Given the description of an element on the screen output the (x, y) to click on. 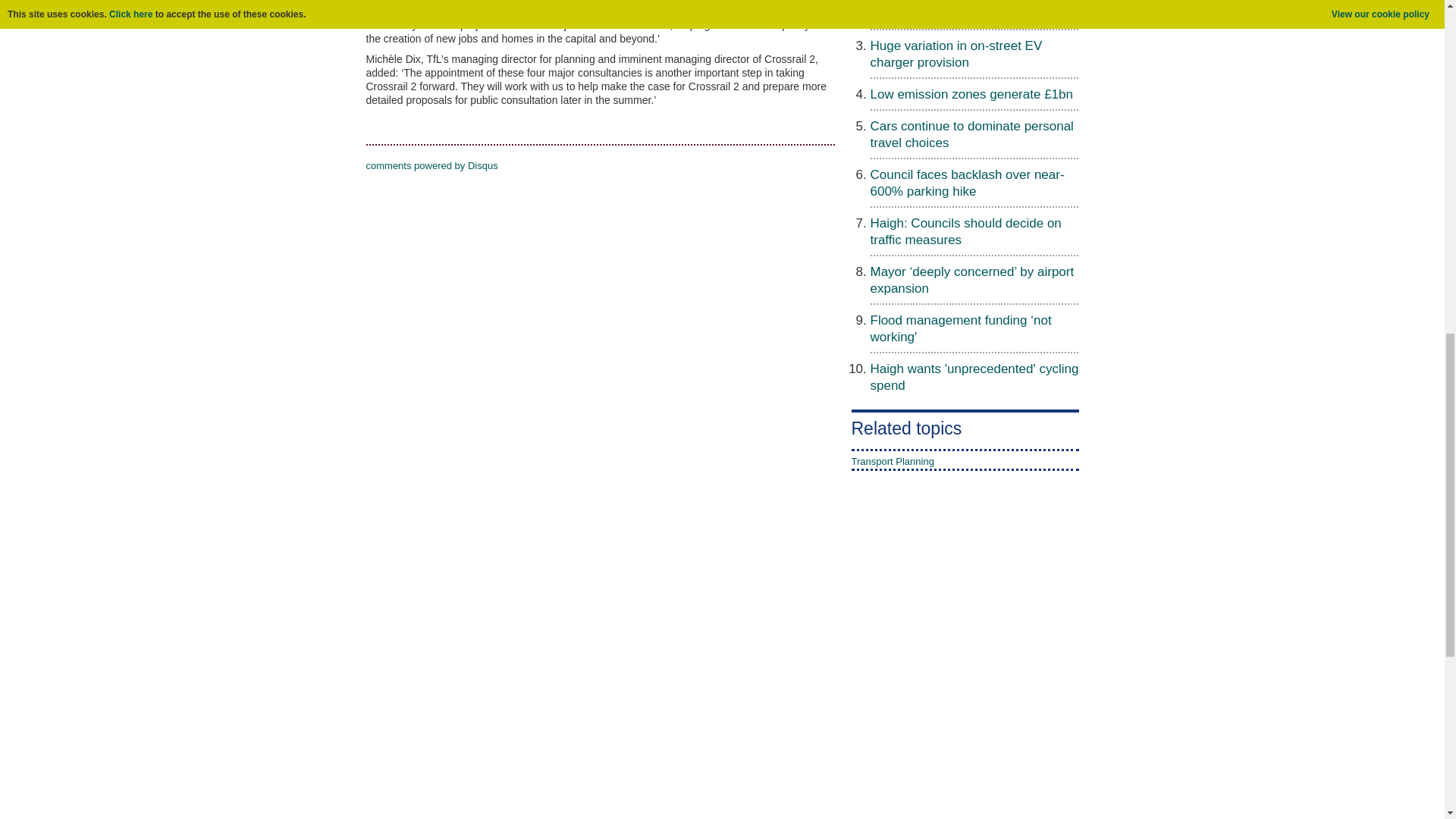
3rd party ad content (721, 785)
Review looks at transport network holistically (967, 10)
3rd party ad content (907, 654)
Huge variation in on-street EV charger provision (956, 53)
Cars continue to dominate personal travel choices (972, 133)
comments powered by Disqus (431, 165)
